Given the description of an element on the screen output the (x, y) to click on. 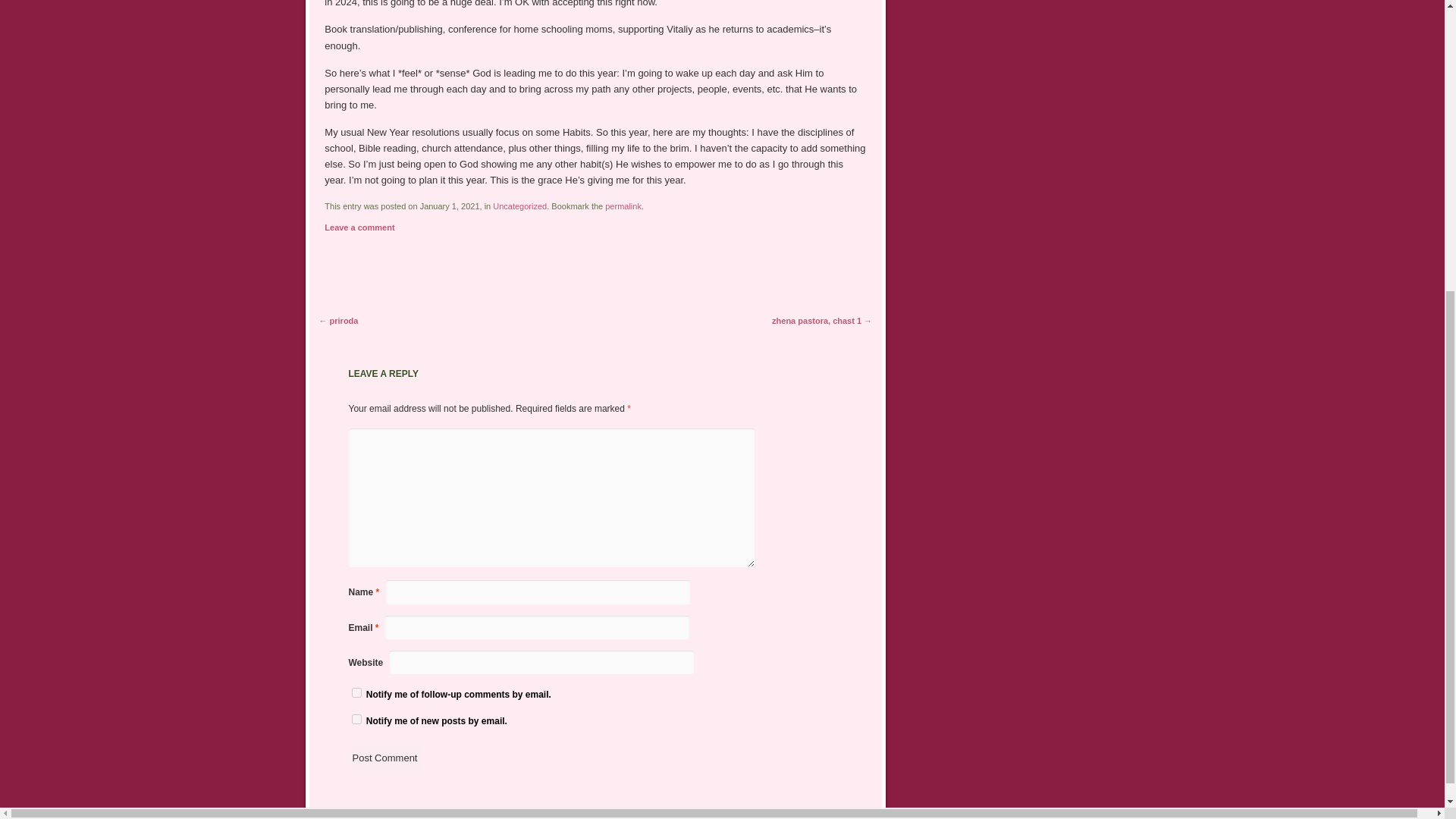
subscribe (356, 334)
subscribe (356, 360)
Post Comment (385, 399)
Post Comment (385, 399)
